Given the description of an element on the screen output the (x, y) to click on. 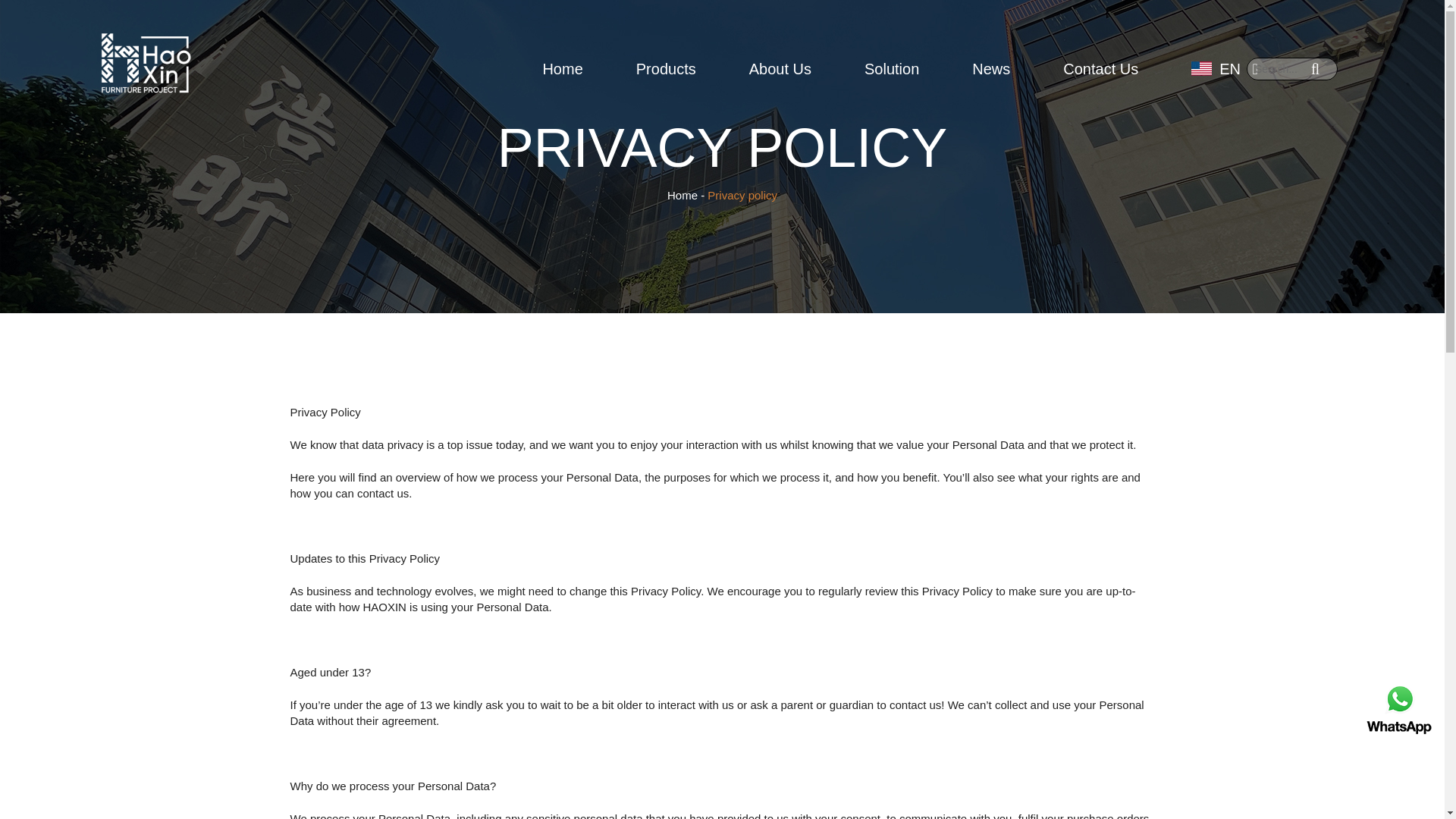
About Us (779, 68)
Home (681, 195)
Solution (891, 68)
Privacy policy (742, 195)
Products (665, 68)
